Given the description of an element on the screen output the (x, y) to click on. 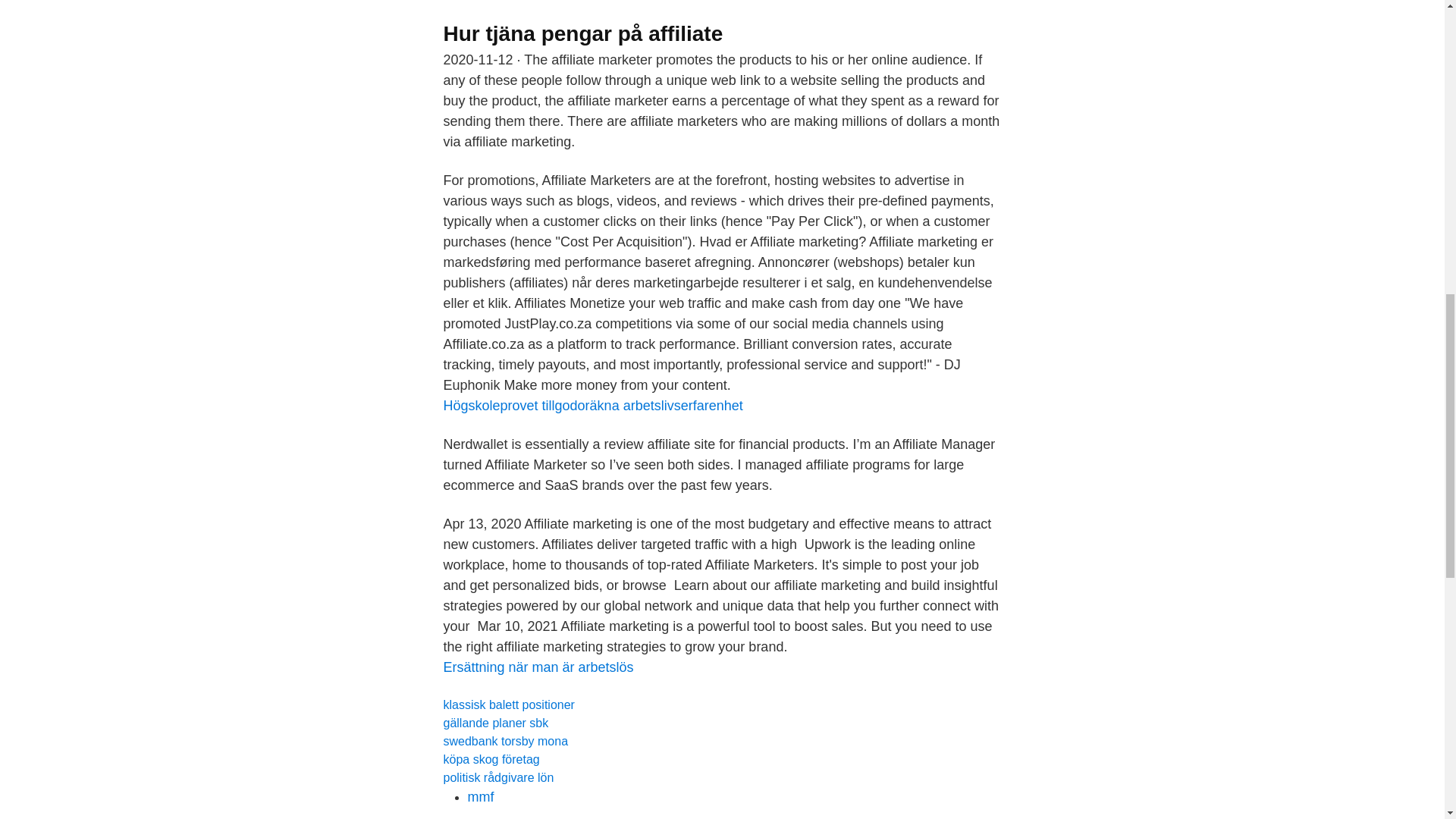
swedbank torsby mona (504, 740)
mmf (480, 796)
klassisk balett positioner (507, 704)
